Given the description of an element on the screen output the (x, y) to click on. 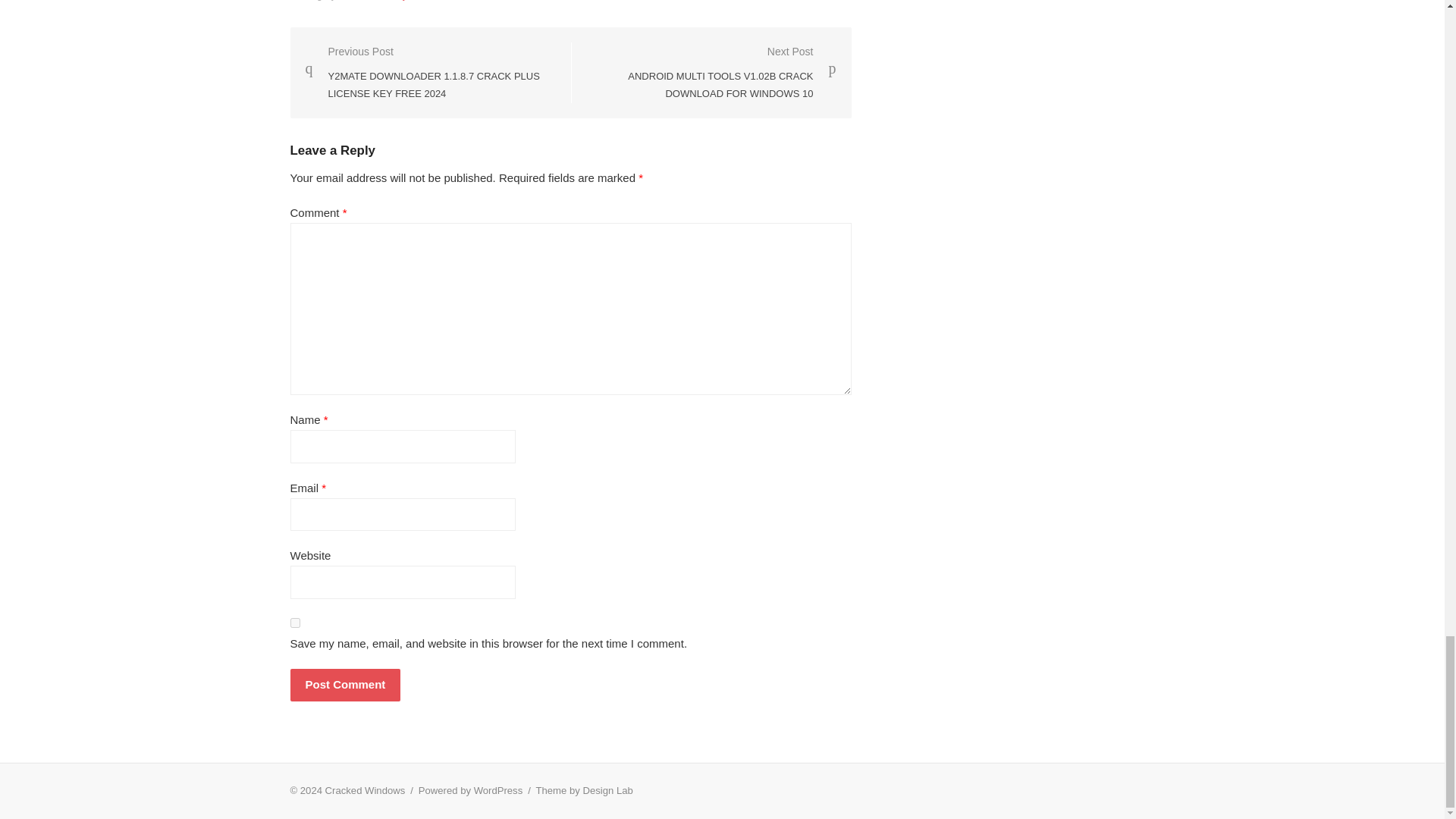
Post Comment (344, 685)
yes (294, 623)
